Given the description of an element on the screen output the (x, y) to click on. 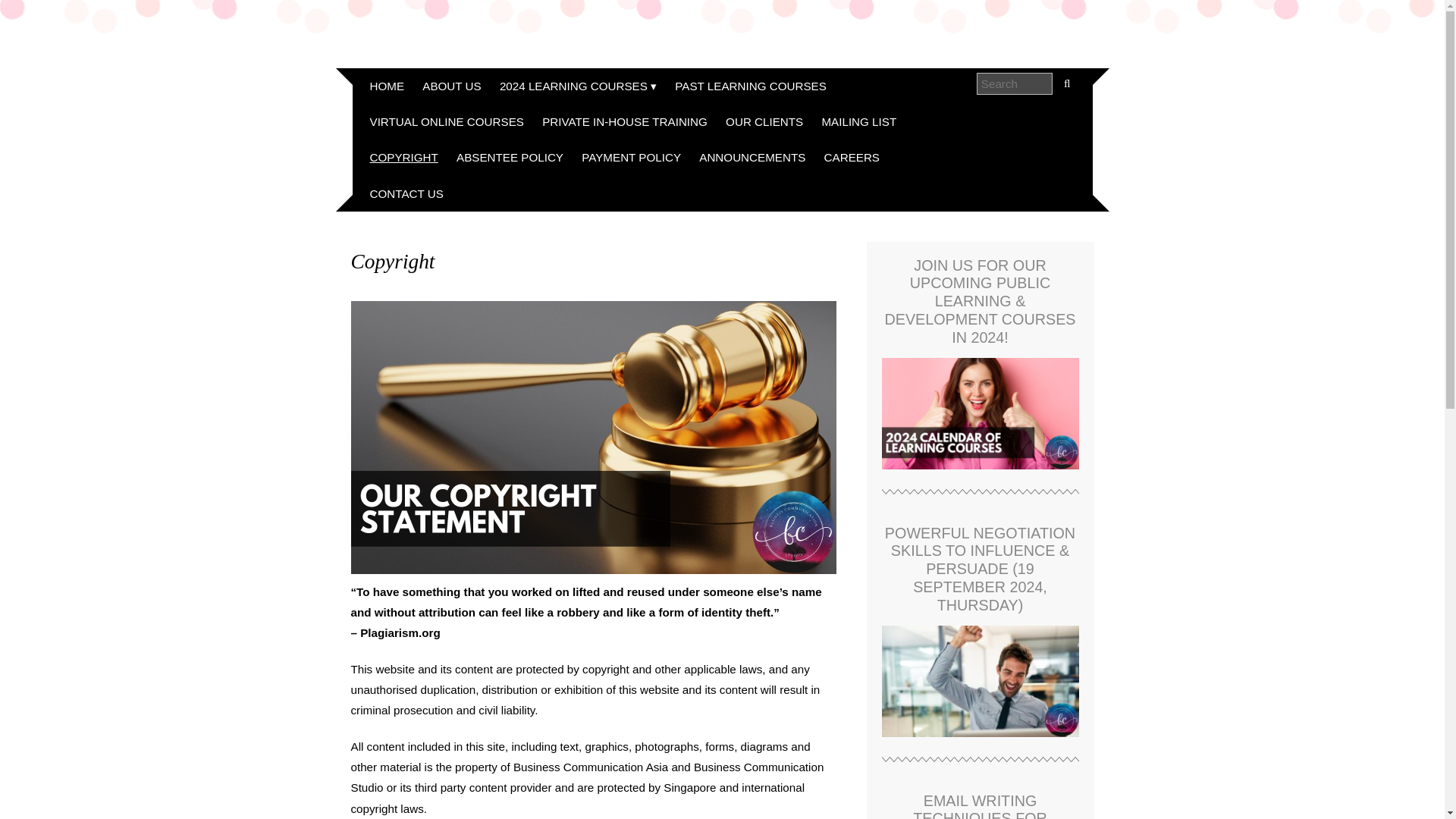
HOME (387, 85)
2024 LEARNING COURSES (577, 85)
PAYMENT POLICY (630, 157)
PRIVATE IN-HOUSE TRAINING (624, 121)
PAST LEARNING COURSES (749, 85)
CAREERS (851, 157)
OUR CLIENTS (763, 121)
ANNOUNCEMENTS (751, 157)
MAILING LIST (858, 121)
ABSENTEE POLICY (509, 157)
